Given the description of an element on the screen output the (x, y) to click on. 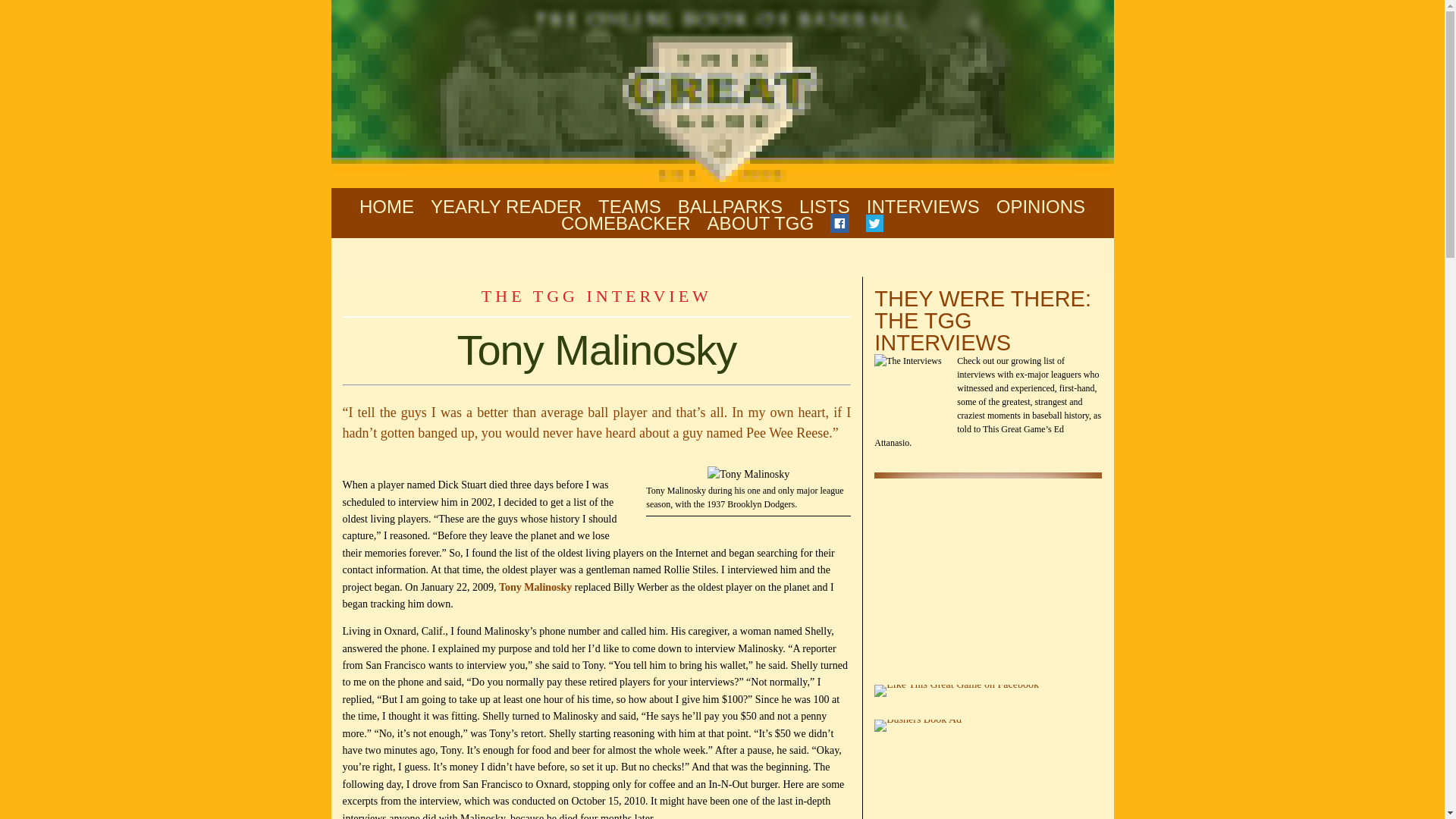
BALLPARKS (730, 206)
OPINIONS (1039, 206)
HOME (386, 206)
bushers300x250 (917, 725)
TGG ON TWITTER (874, 224)
TEAMS (629, 206)
ABOUT TGG (760, 224)
THEY WERE THERE: THE TGG INTERVIEWS (982, 320)
COMEBACKER (625, 224)
LISTS (824, 206)
tgglikeus300x250 (957, 690)
tggtwitterad300x250 (988, 566)
YEARLY READER (505, 206)
INTERVIEWS (922, 206)
